Given the description of an element on the screen output the (x, y) to click on. 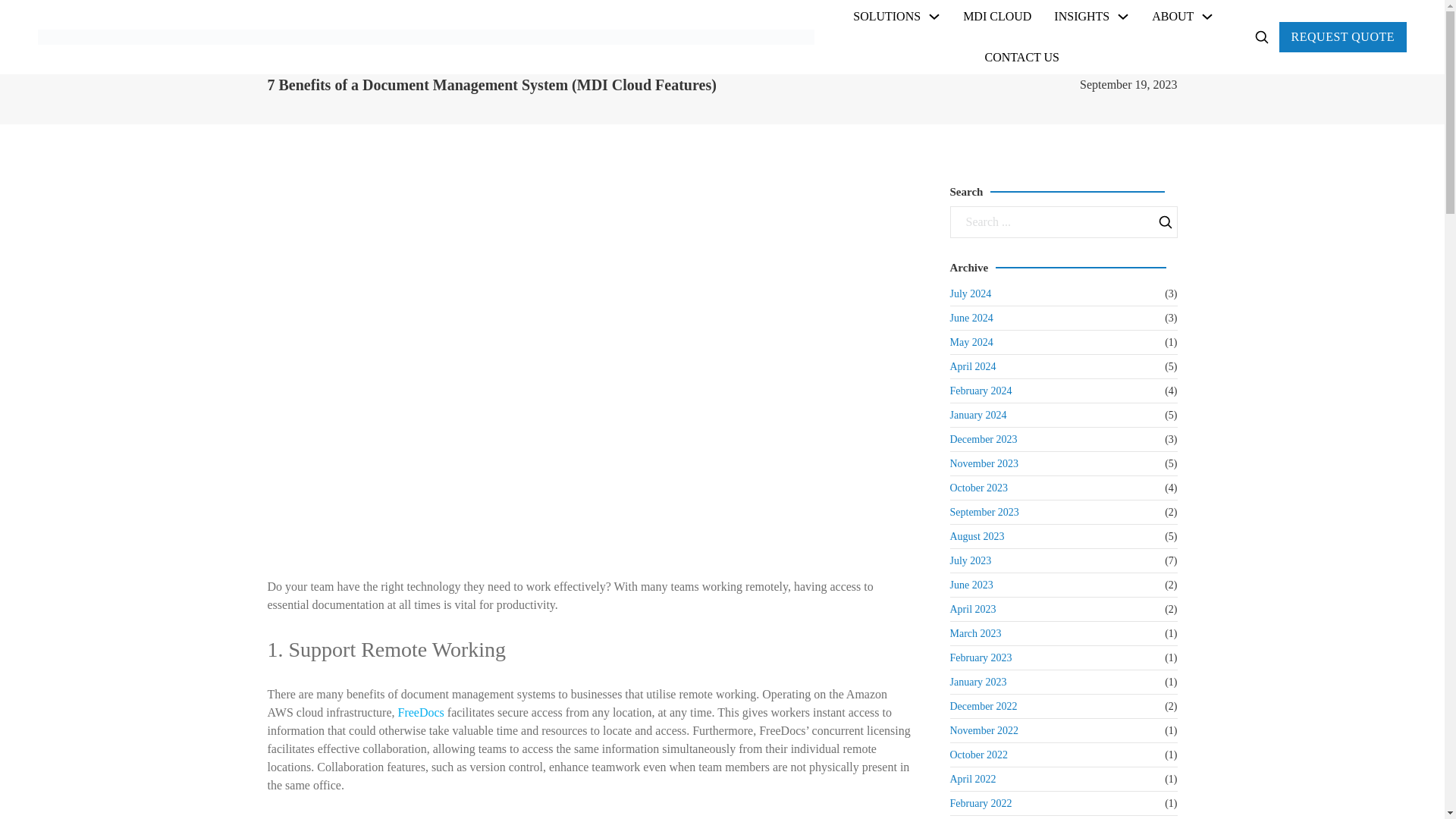
MDI CLOUD (996, 16)
